Given the description of an element on the screen output the (x, y) to click on. 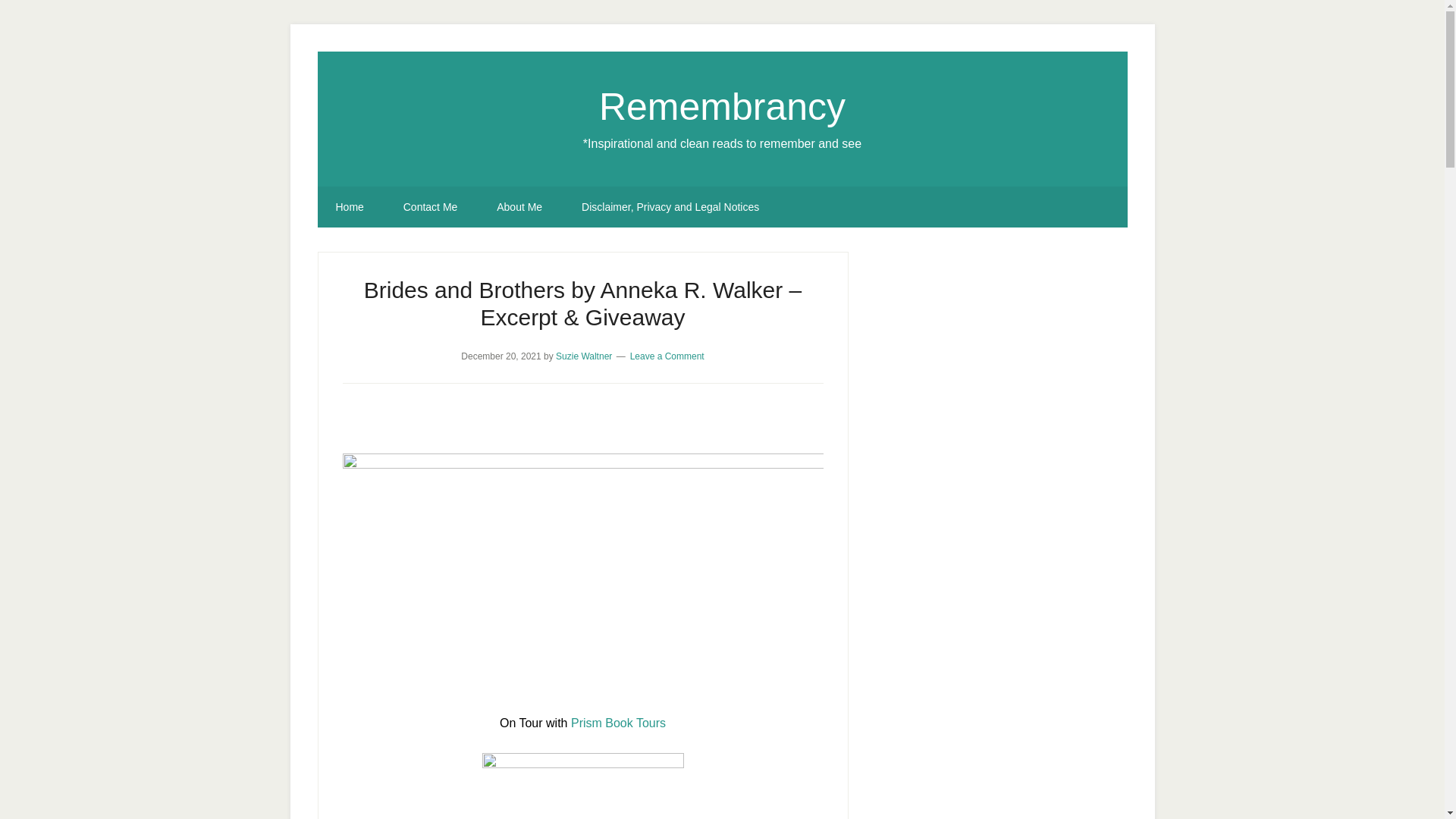
Prism Book Tours (617, 721)
Suzie Waltner (583, 356)
Home (349, 206)
Contact Me (430, 206)
Remembrancy (721, 106)
Disclaimer, Privacy and Legal Notices (670, 206)
Leave a Comment (667, 356)
About Me (519, 206)
